Given the description of an element on the screen output the (x, y) to click on. 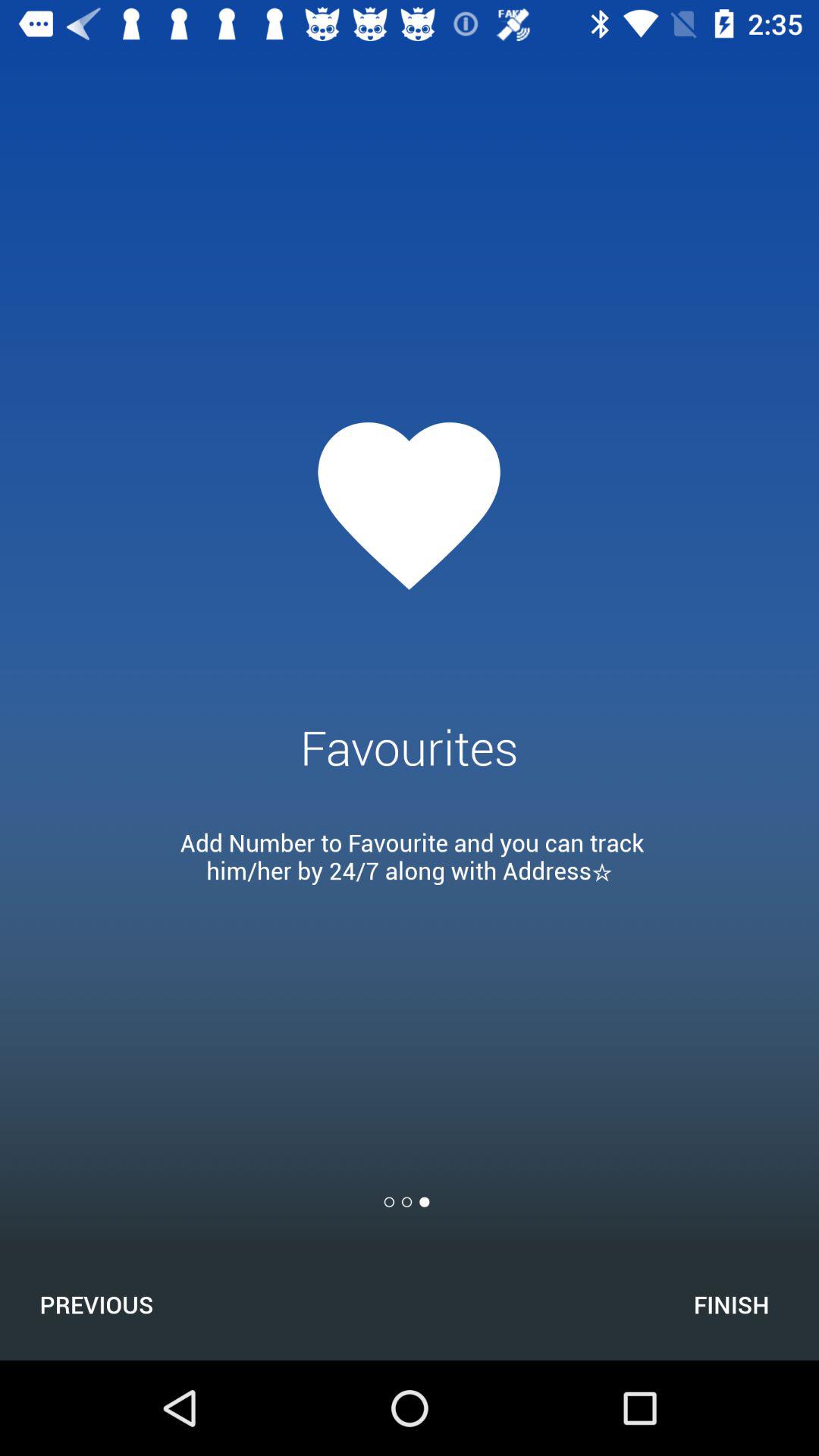
turn off the icon next to the finish (96, 1304)
